Given the description of an element on the screen output the (x, y) to click on. 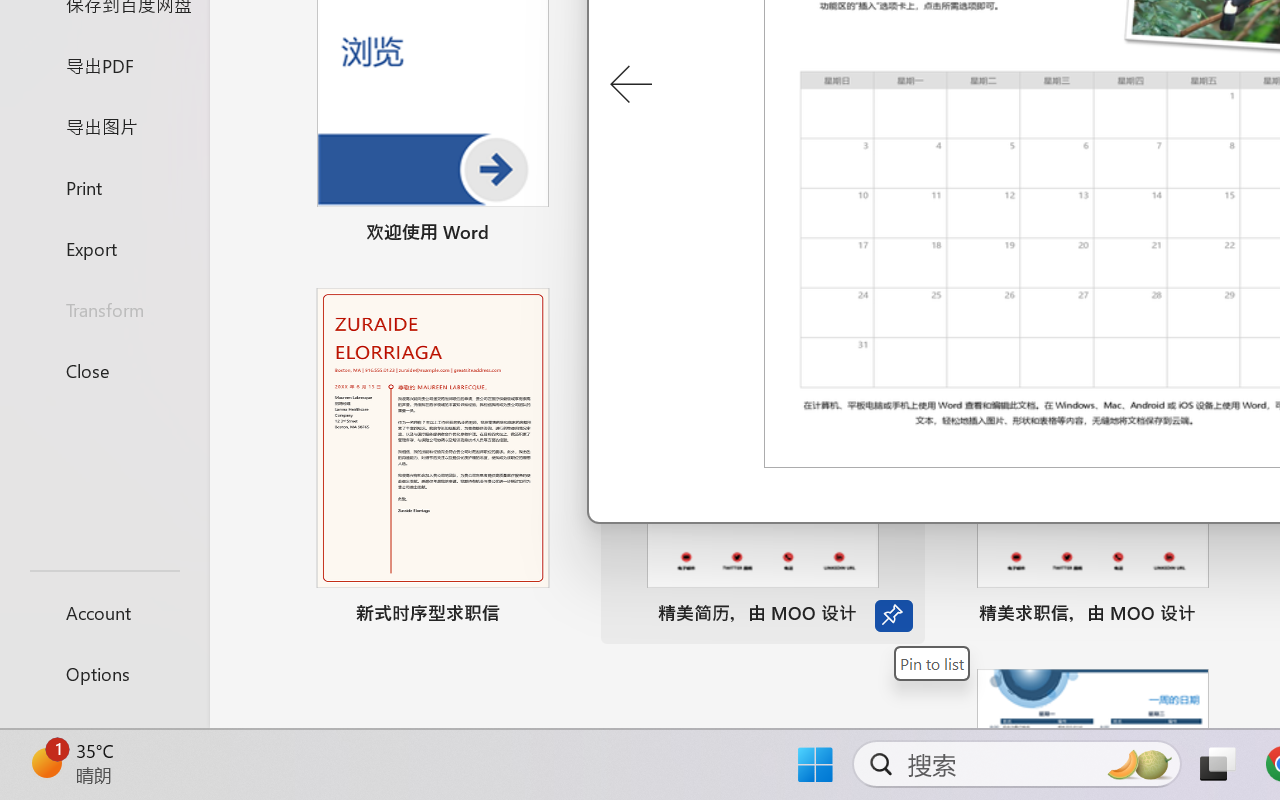
Transform (104, 309)
Options (104, 673)
Print (104, 186)
Account (104, 612)
Previous Template (630, 85)
Export (104, 248)
Pin to list (931, 663)
